Given the description of an element on the screen output the (x, y) to click on. 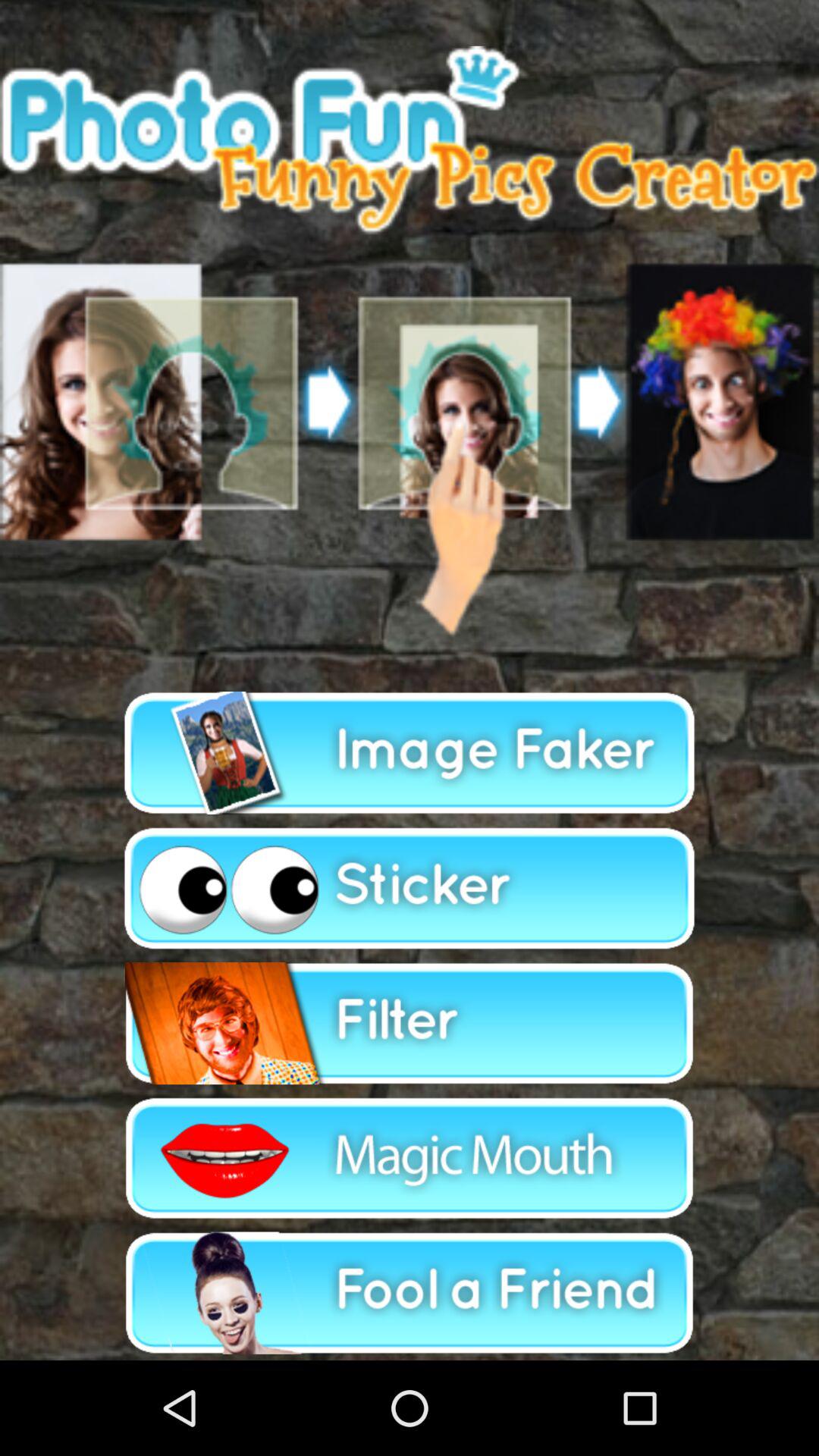
select magic mouth (409, 1158)
